Given the description of an element on the screen output the (x, y) to click on. 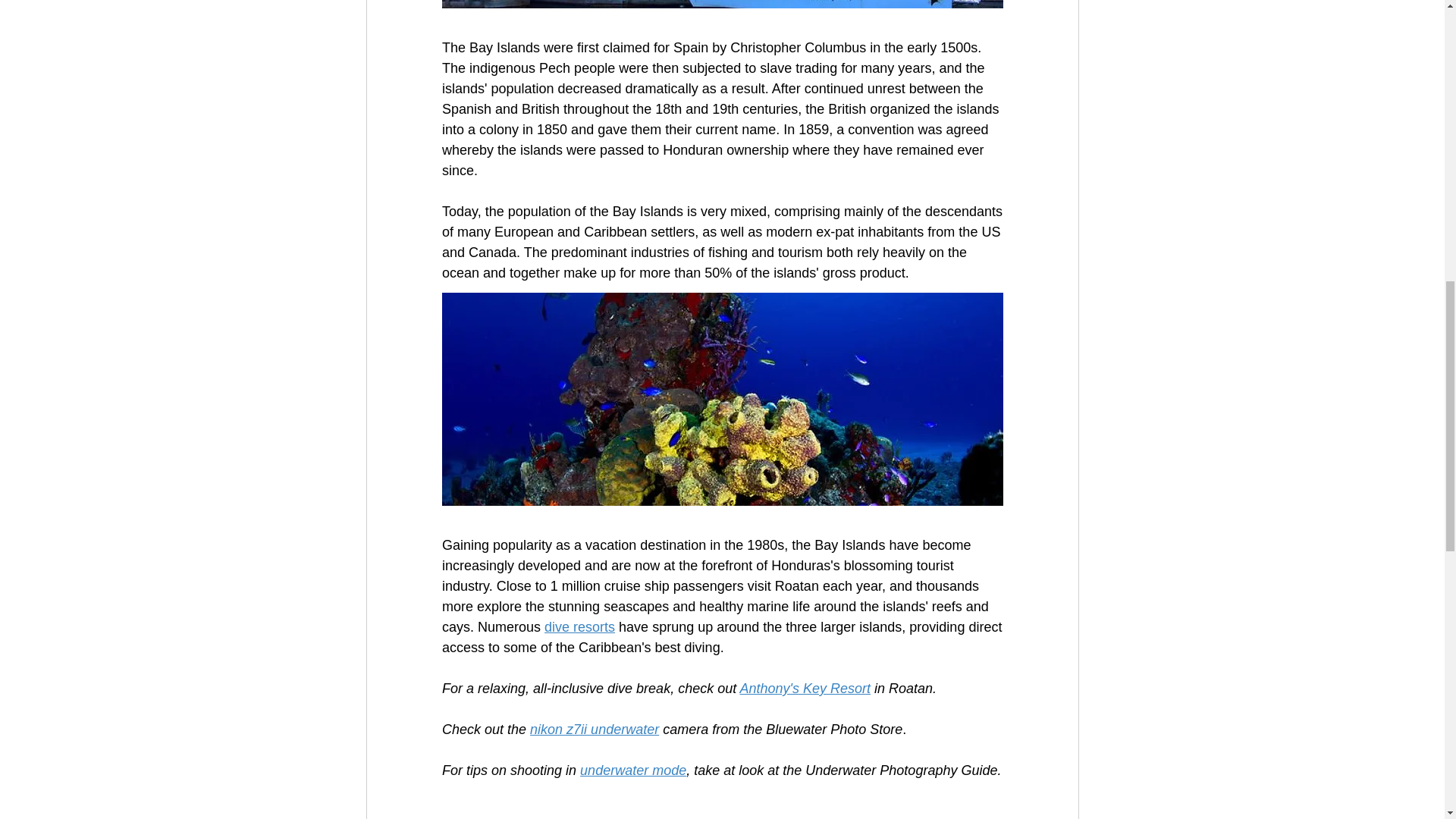
nikon z7ii underwater (594, 729)
dive resorts (579, 626)
Anthony's Key Resort (804, 688)
underwater mode (632, 770)
